Given the description of an element on the screen output the (x, y) to click on. 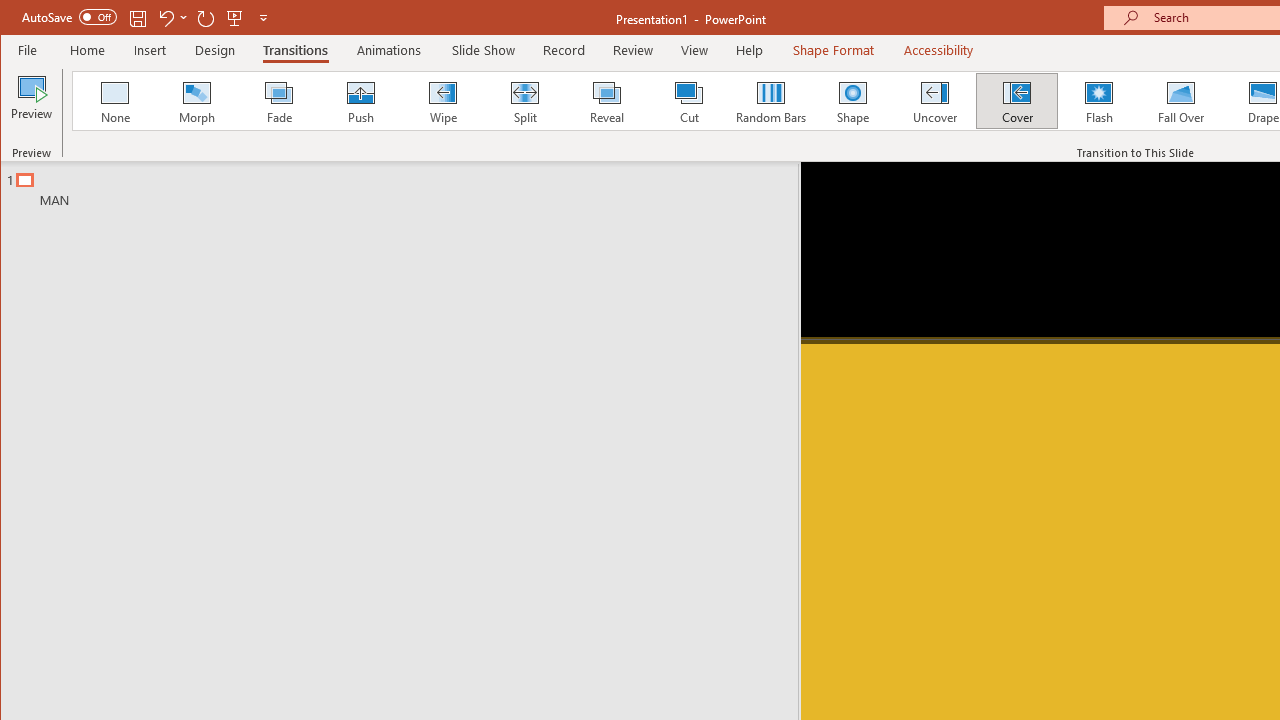
Fade (279, 100)
Outline (408, 185)
Flash (1099, 100)
Uncover (934, 100)
Cover (1016, 100)
